Given the description of an element on the screen output the (x, y) to click on. 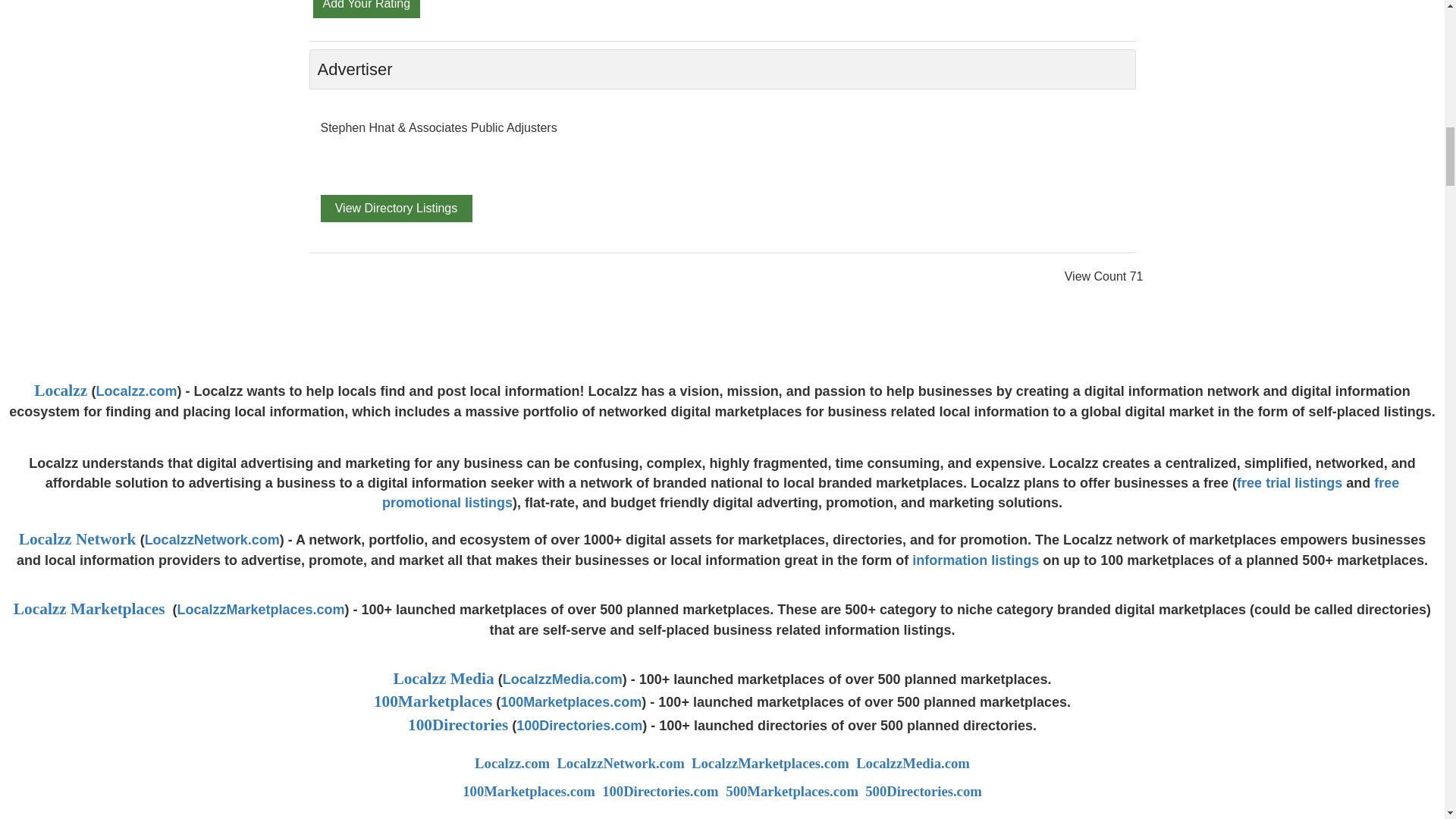
View Directory Listings (395, 207)
Click to Rate (366, 4)
